Given the description of an element on the screen output the (x, y) to click on. 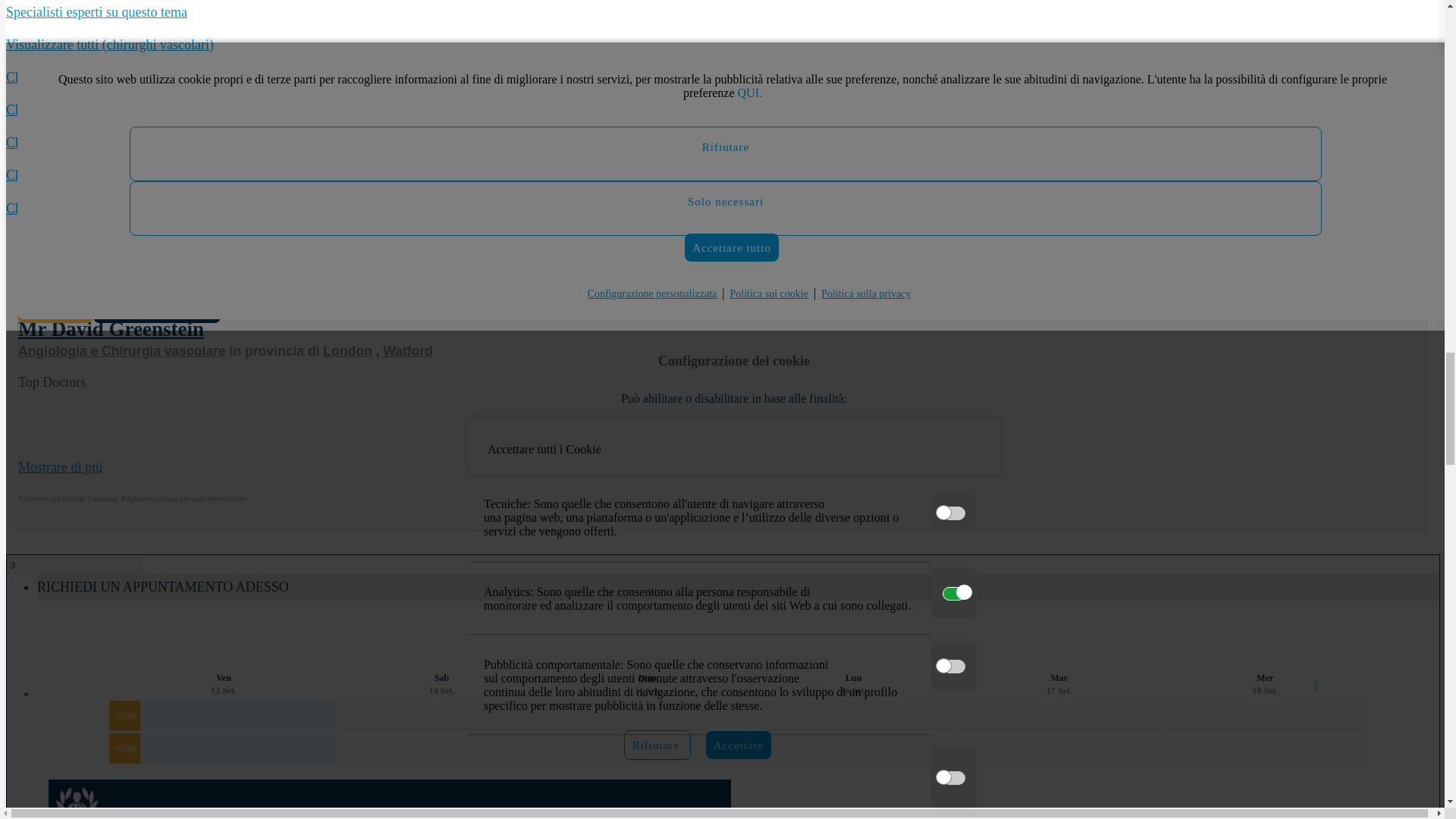
16:30 (124, 716)
16:40 (124, 748)
3 (74, 565)
